Given the description of an element on the screen output the (x, y) to click on. 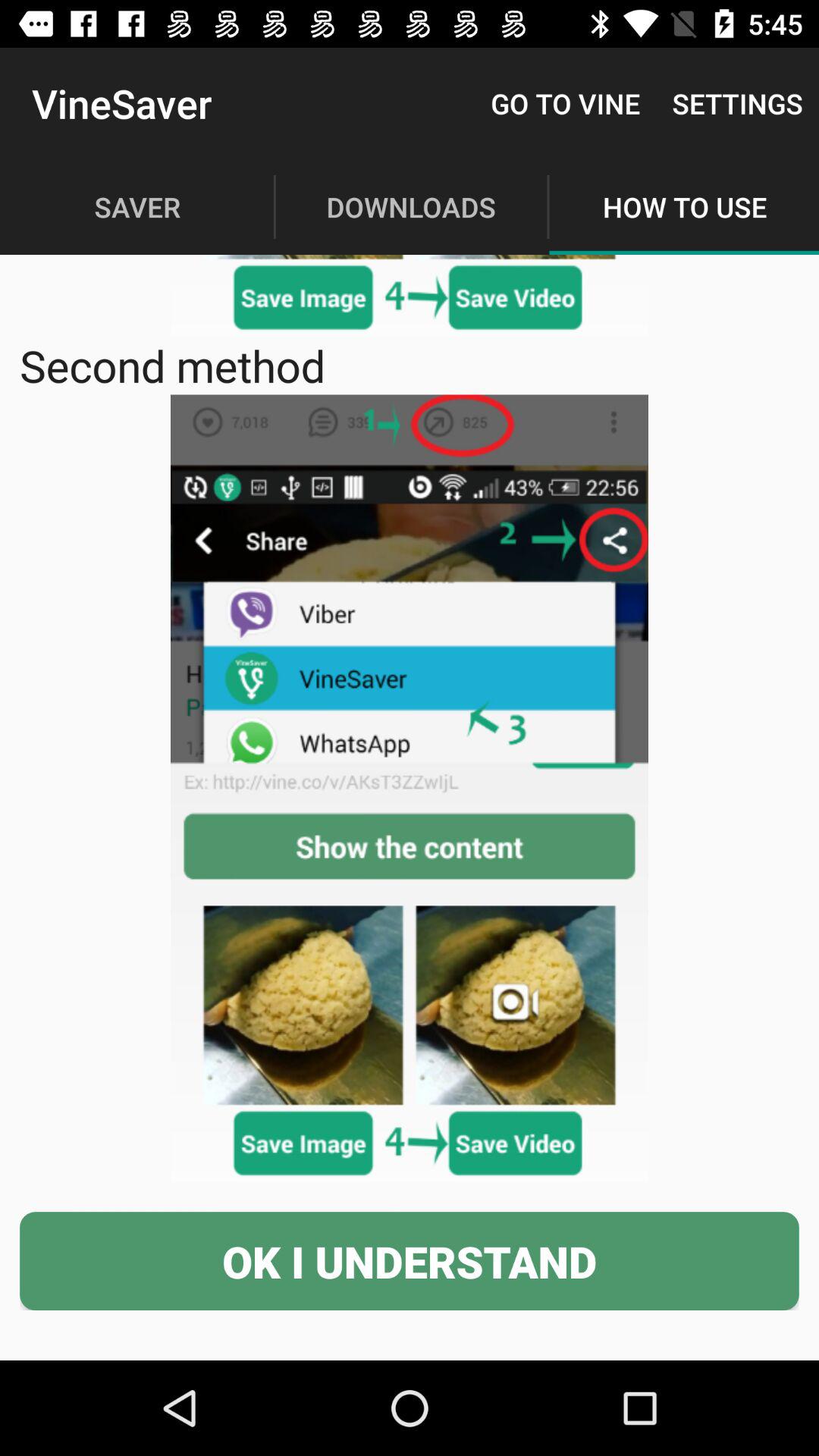
flip until go to vine icon (565, 103)
